Given the description of an element on the screen output the (x, y) to click on. 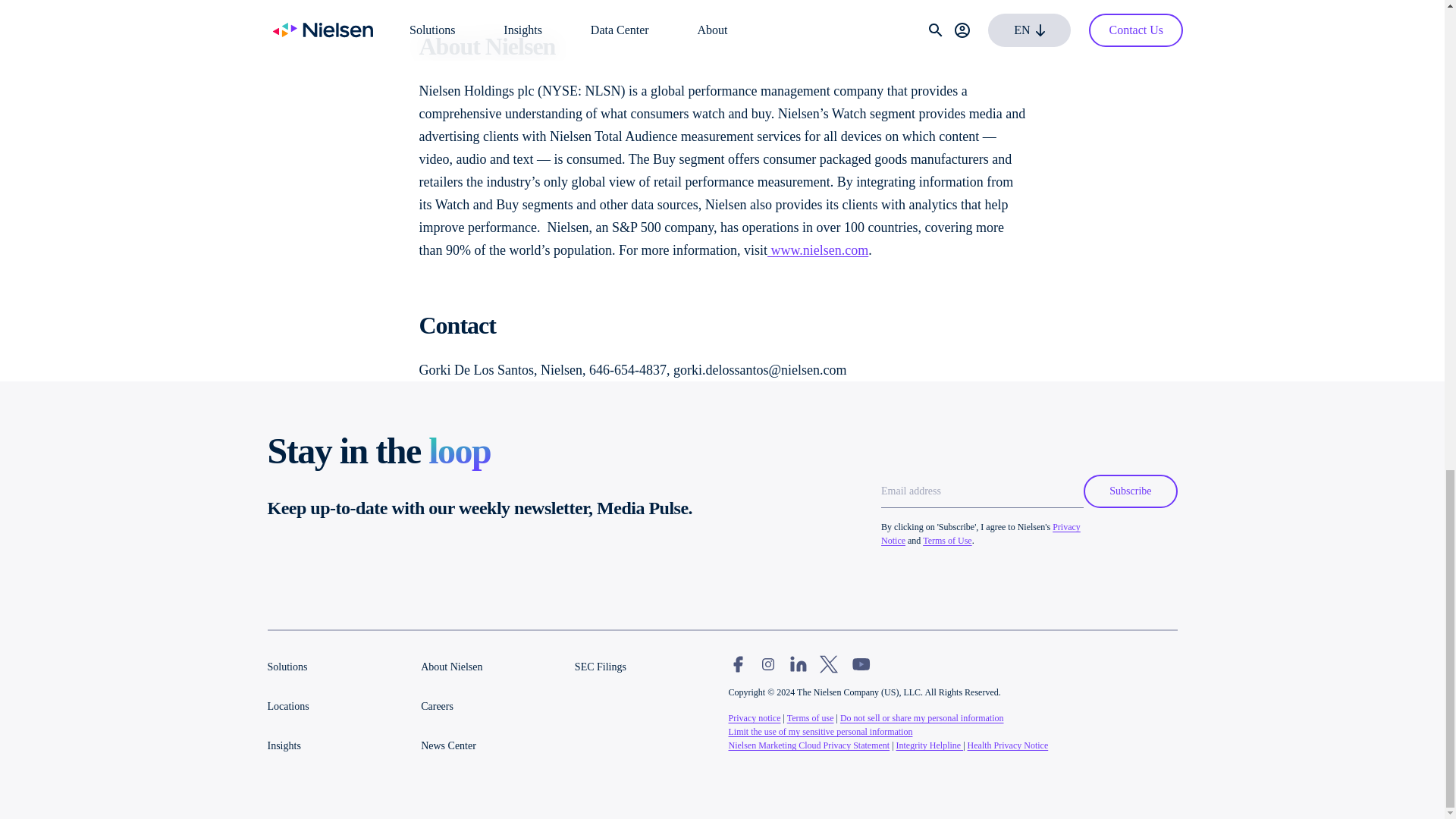
Subscribe (1129, 491)
